Given the description of an element on the screen output the (x, y) to click on. 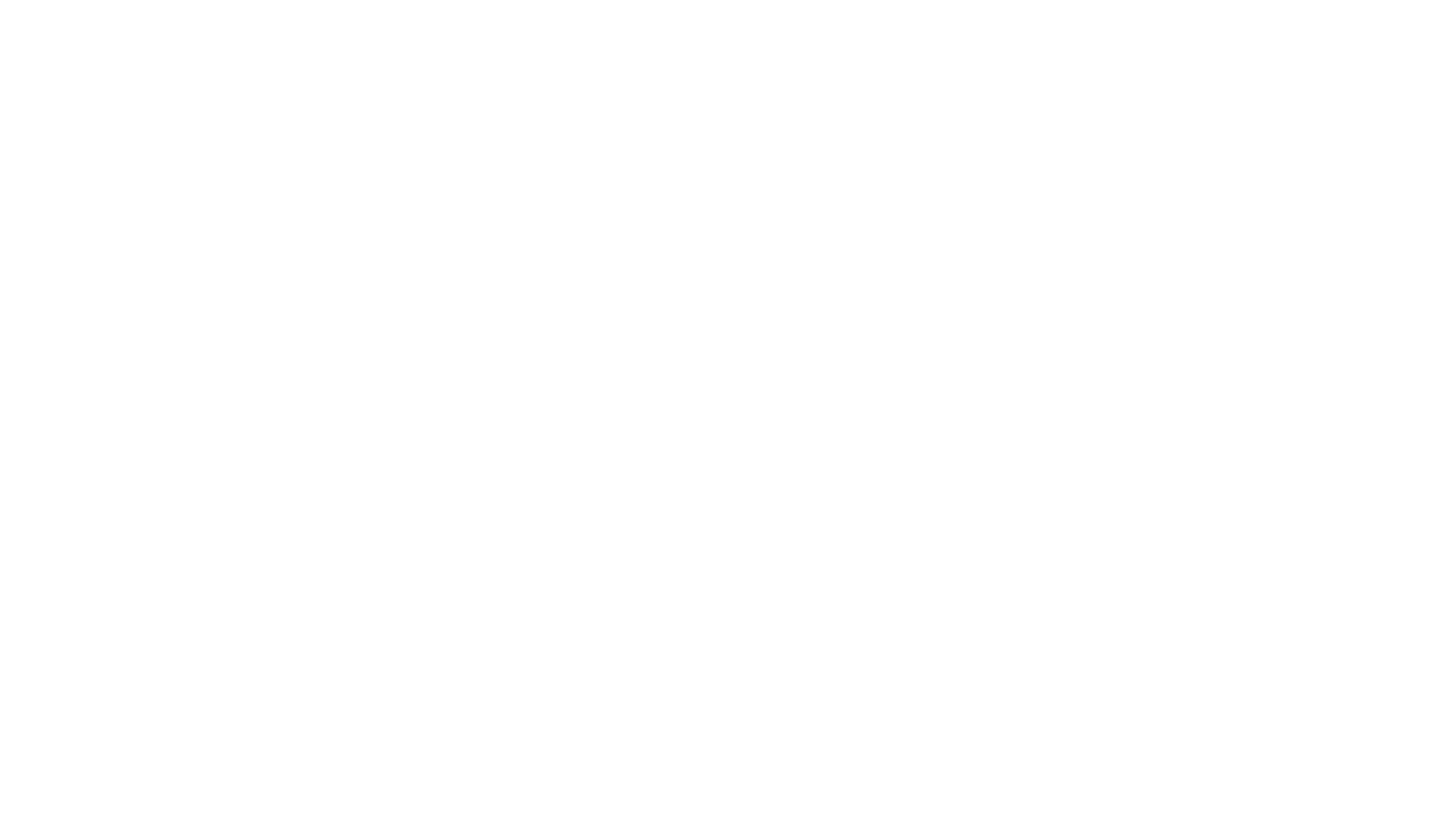
CV Element type: text (1331, 17)
Exhibitions Element type: text (1201, 17)
Public art Element type: text (1275, 17)
Hannah Quinlivan Element type: text (88, 18)
Contact Element type: text (1384, 17)
